Given the description of an element on the screen output the (x, y) to click on. 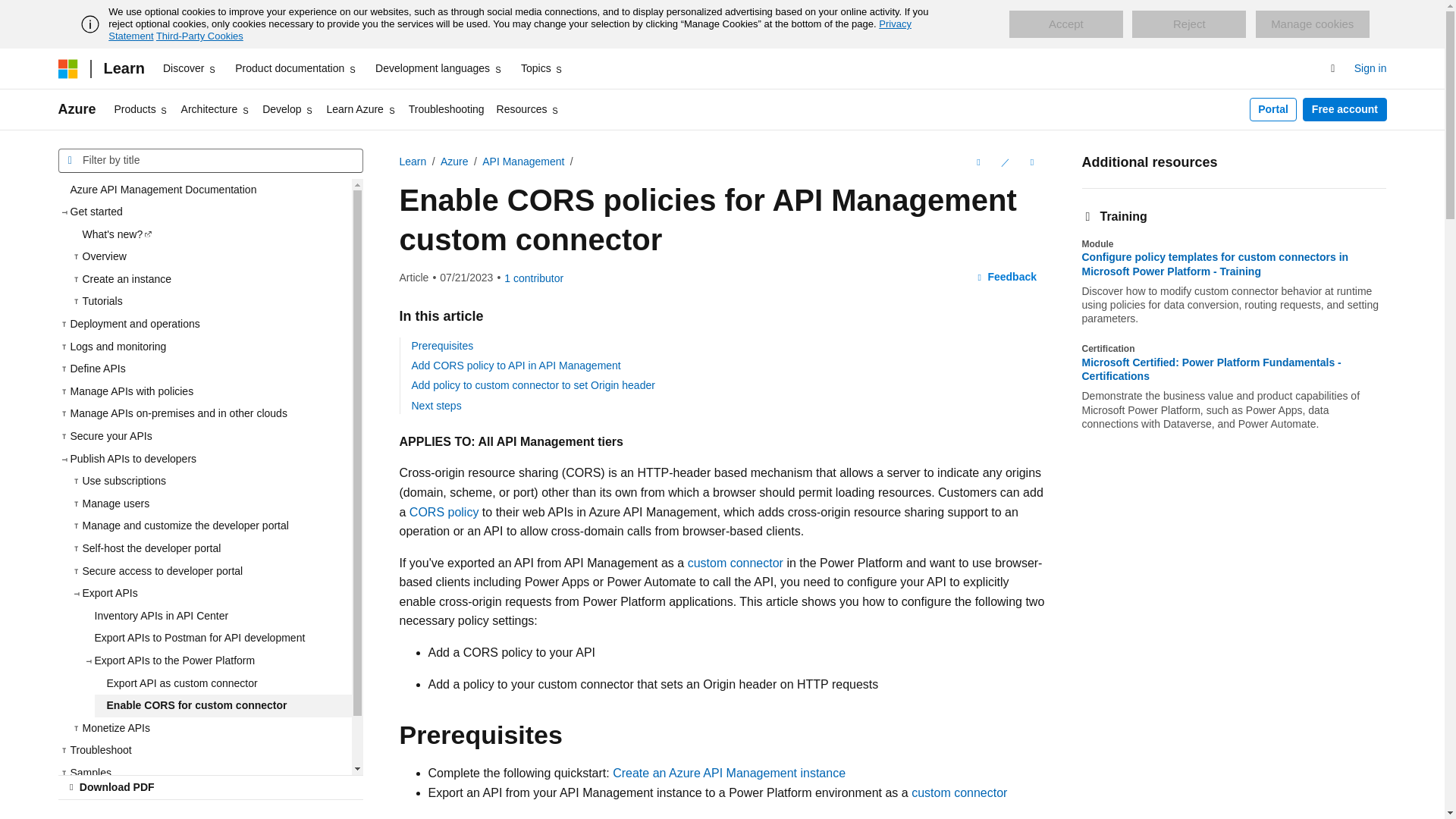
View all contributors (533, 277)
Sign in (1370, 68)
Accept (1065, 23)
Discover (189, 68)
Privacy Statement (509, 29)
Development languages (438, 68)
Product documentation (295, 68)
Edit This Document (1004, 161)
Azure (77, 109)
Products (140, 109)
